Given the description of an element on the screen output the (x, y) to click on. 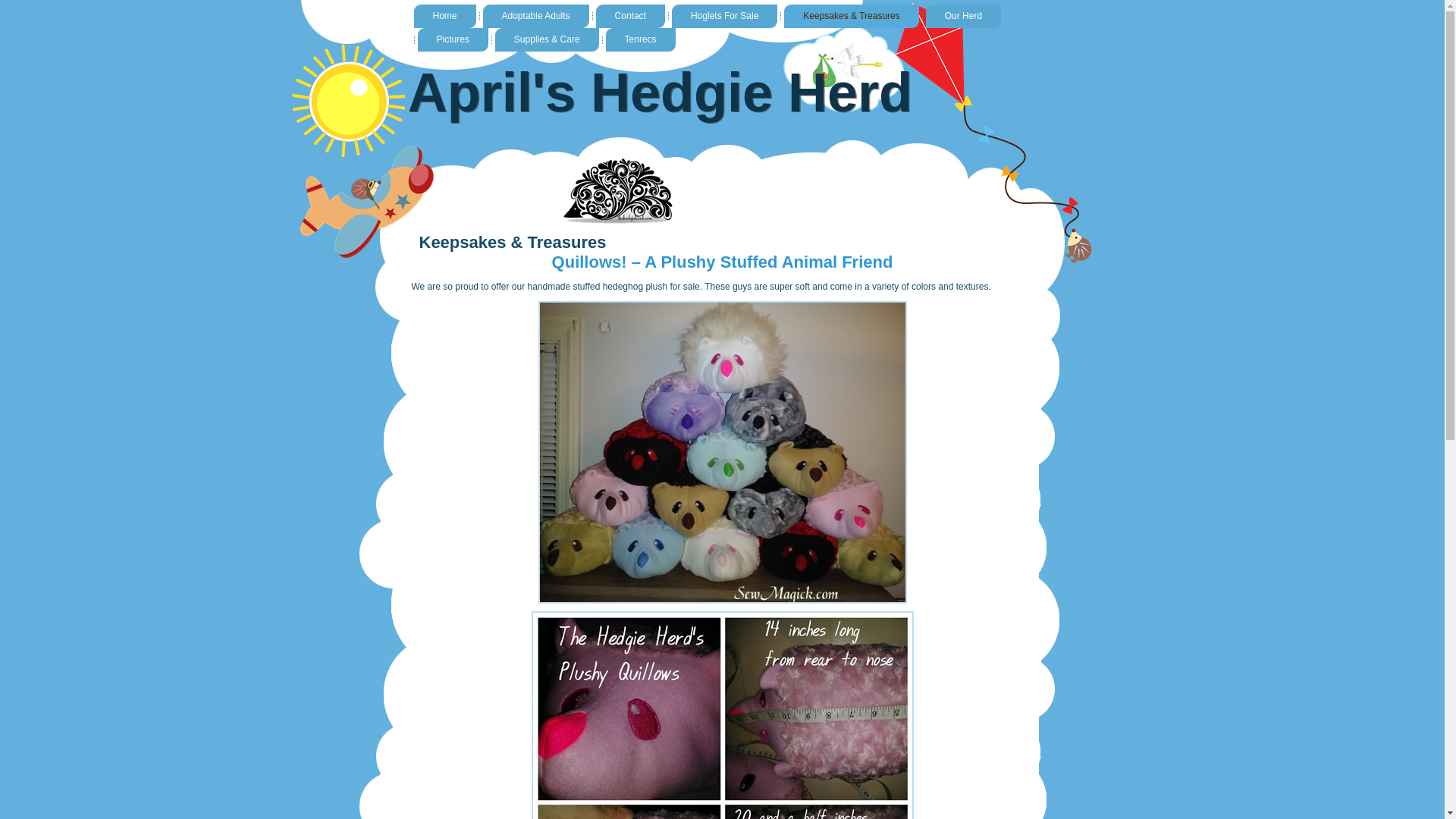
Pictures (451, 39)
Home (444, 15)
Contact (630, 15)
Tenrecs (640, 39)
Home (444, 15)
Adoptable Adults (536, 15)
April's Hedgie Herd (659, 92)
Tenrecs (640, 39)
Hoglets For Sale (724, 15)
Pictures (451, 39)
